Given the description of an element on the screen output the (x, y) to click on. 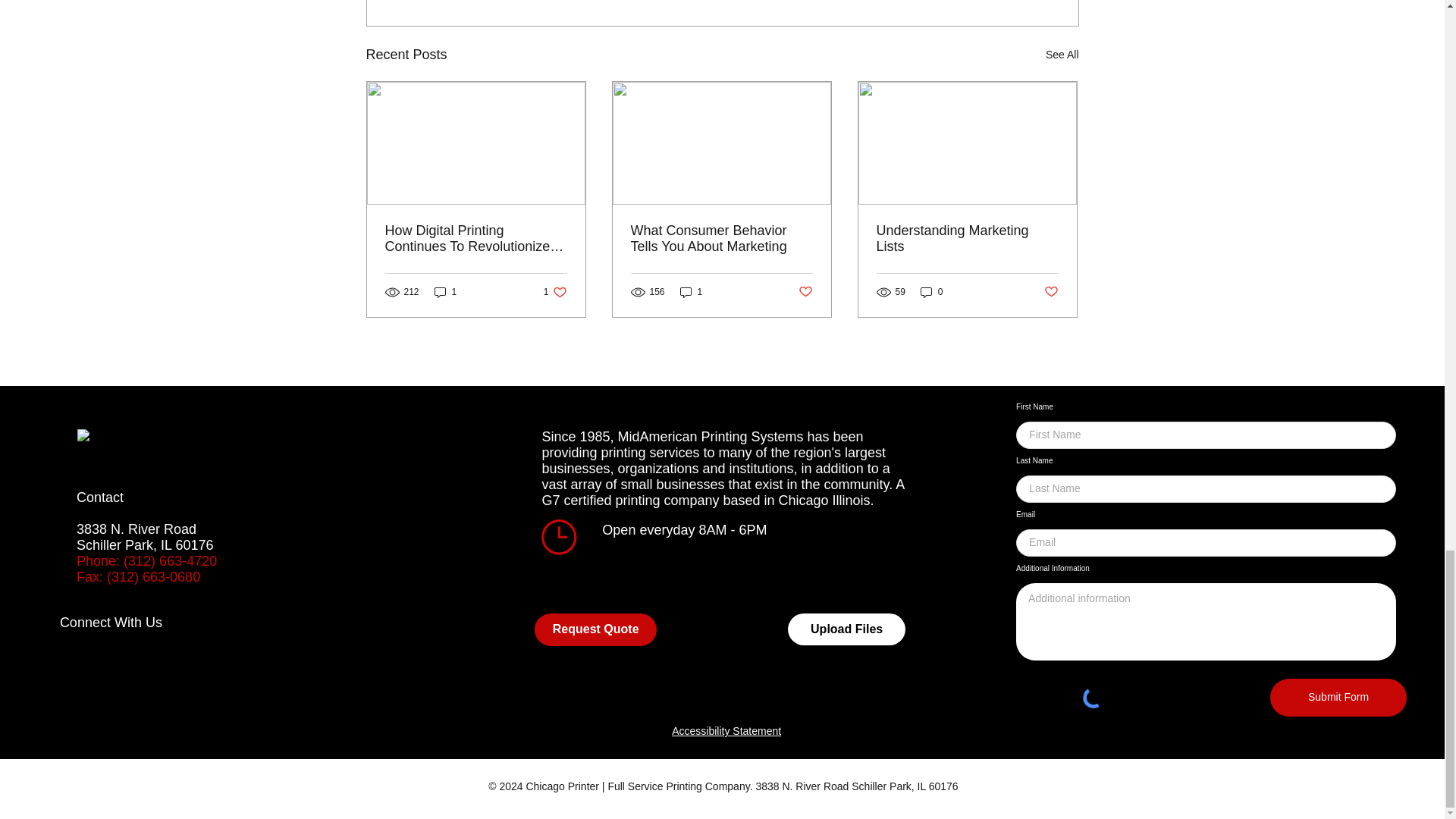
1 (445, 291)
See All (1061, 55)
How Digital Printing Continues To Revolutionize Marketing (476, 238)
